Given the description of an element on the screen output the (x, y) to click on. 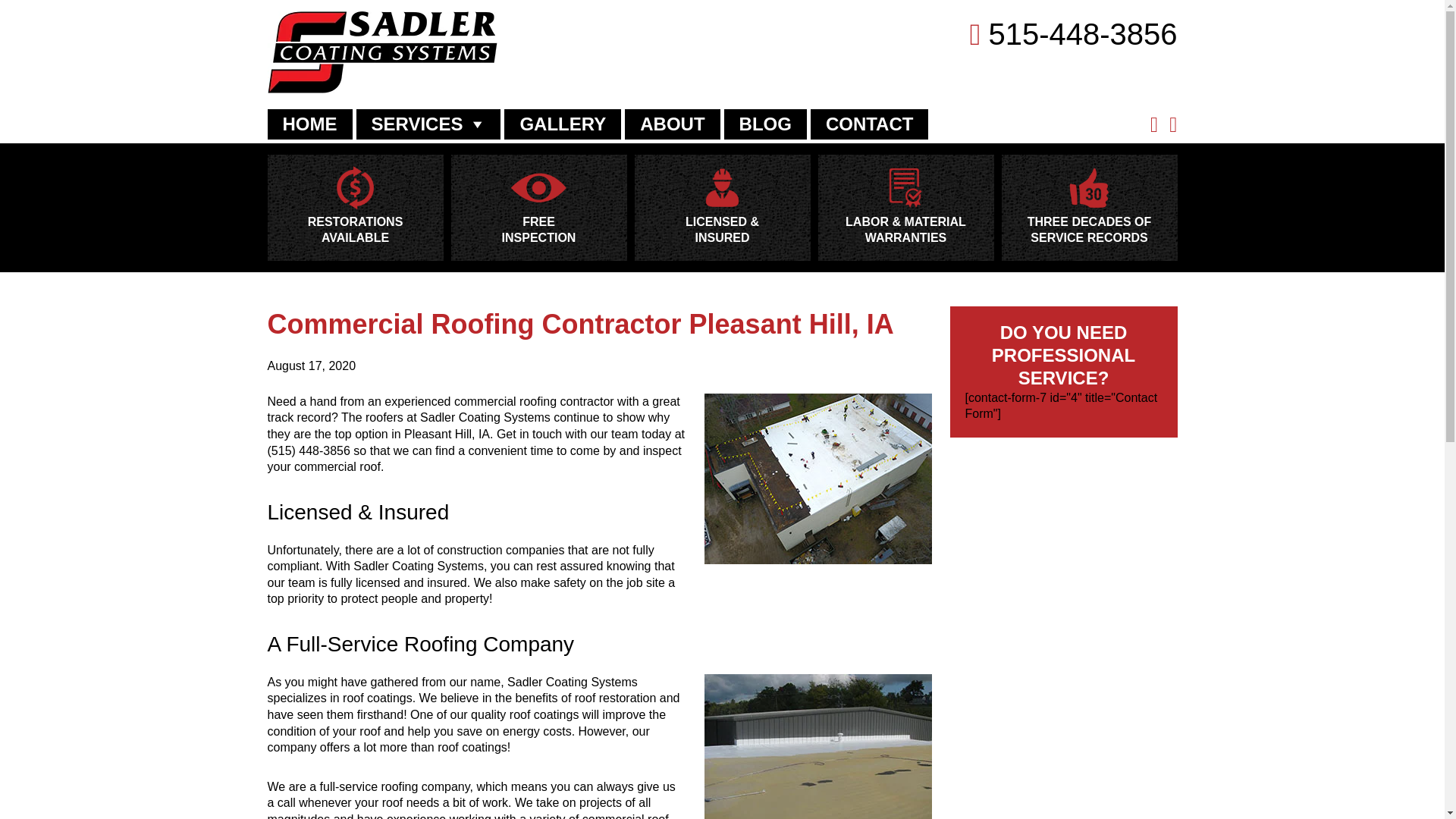
Commercial Roofing Contractor Pleasant Hill, IA (579, 323)
SERVICES (428, 123)
Commercial Roofing Contractor Pleasant Hill, IA (579, 323)
Sadler Coating Systems (381, 88)
CONTACT (869, 123)
BLOG (764, 123)
ABOUT (671, 123)
GALLERY (562, 123)
HOME (309, 123)
